Given the description of an element on the screen output the (x, y) to click on. 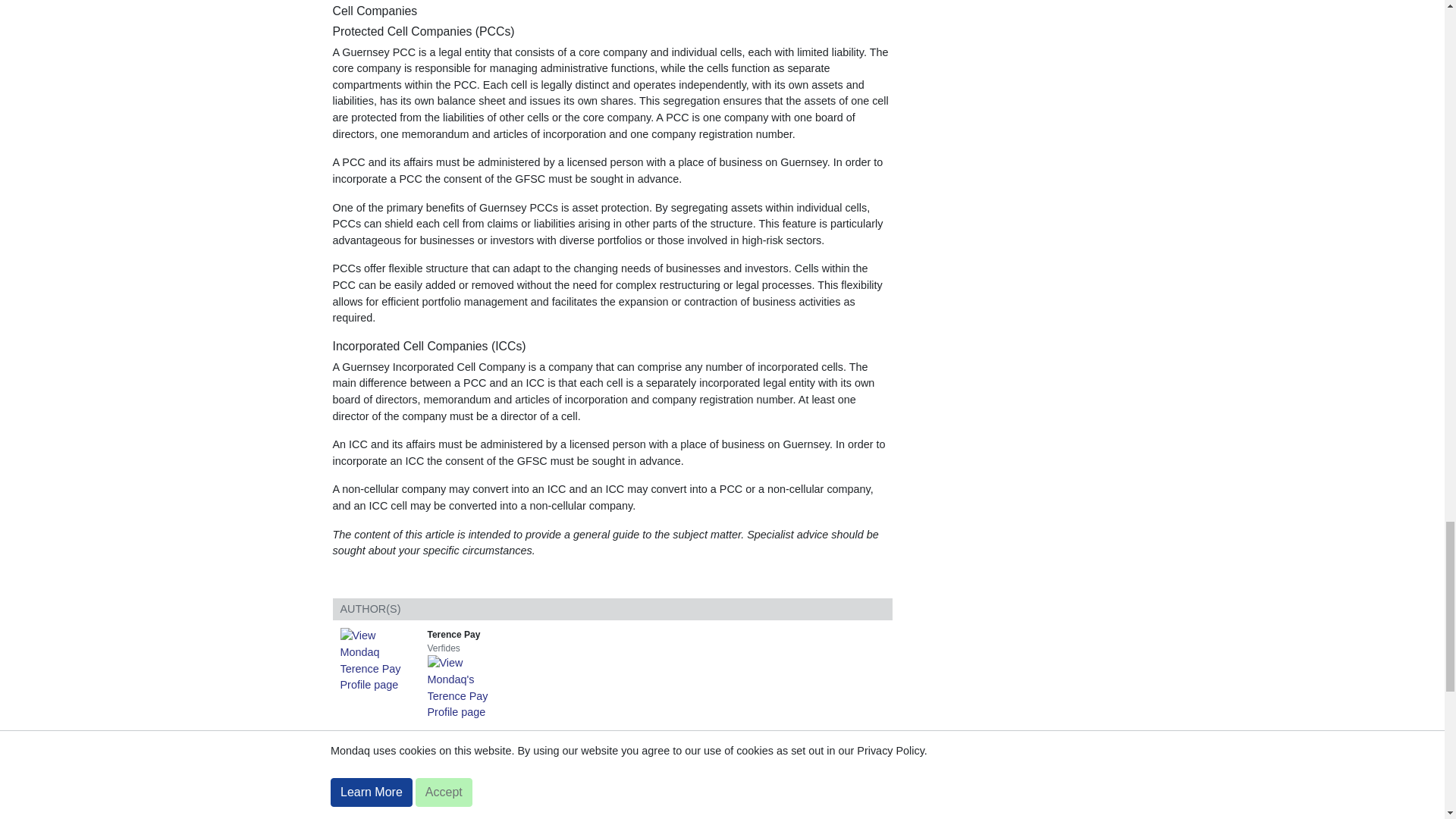
More from Terence  Pay (469, 686)
